Given the description of an element on the screen output the (x, y) to click on. 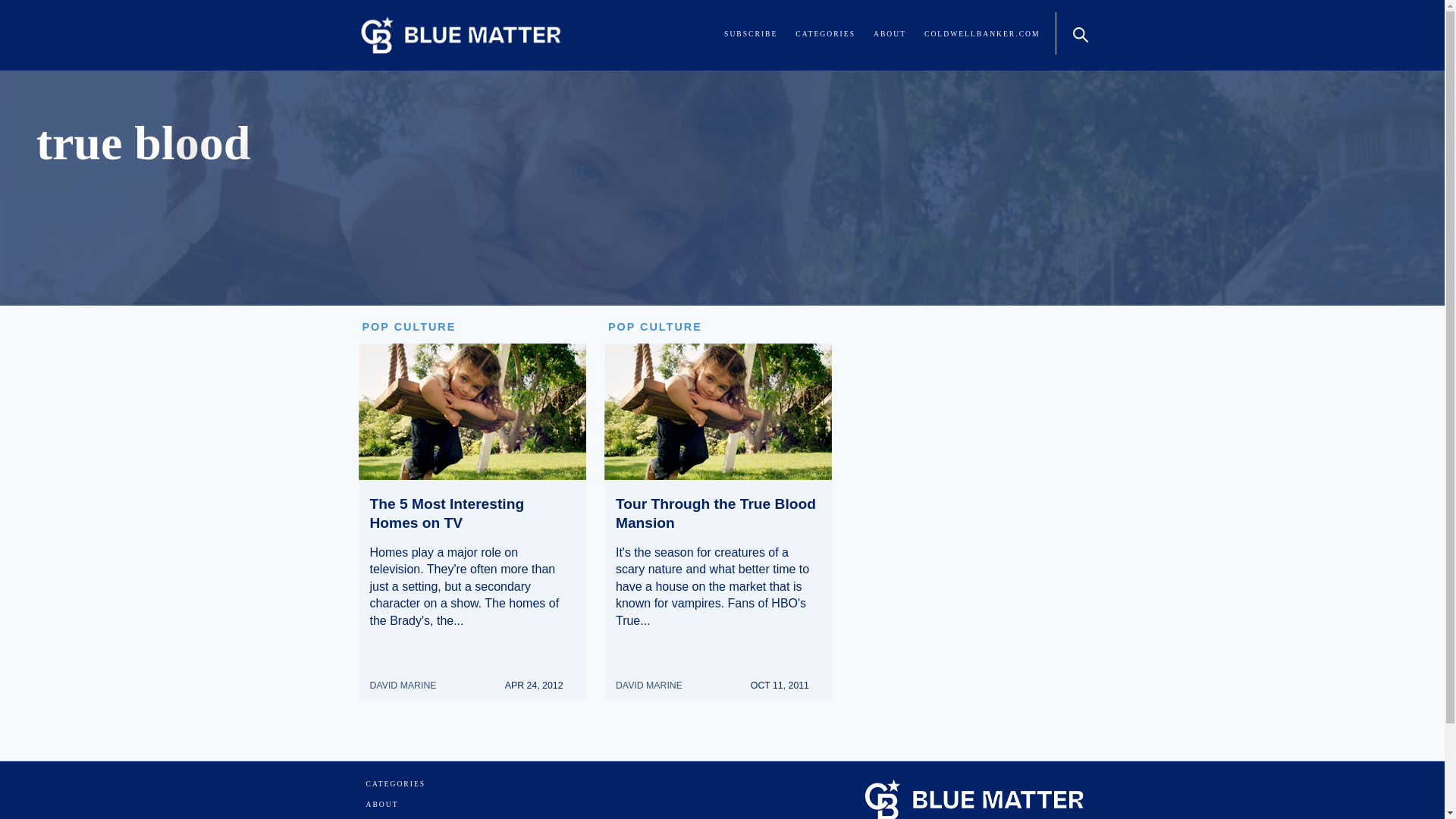
Search (1078, 33)
POP CULTURE (409, 326)
Posts by David Marine (654, 678)
ABOUT (381, 804)
The 5 Most Interesting Homes on TV (446, 513)
Tour Through the True Blood Mansion (715, 513)
Posts by David Marine (408, 678)
SUBSCRIBE (750, 33)
COLDWELLBANKER.COM (981, 33)
CATEGORIES (395, 783)
ABOUT (889, 33)
DAVID MARINE (408, 678)
CATEGORIES (825, 33)
DAVID MARINE (654, 678)
POP CULTURE (654, 326)
